Given the description of an element on the screen output the (x, y) to click on. 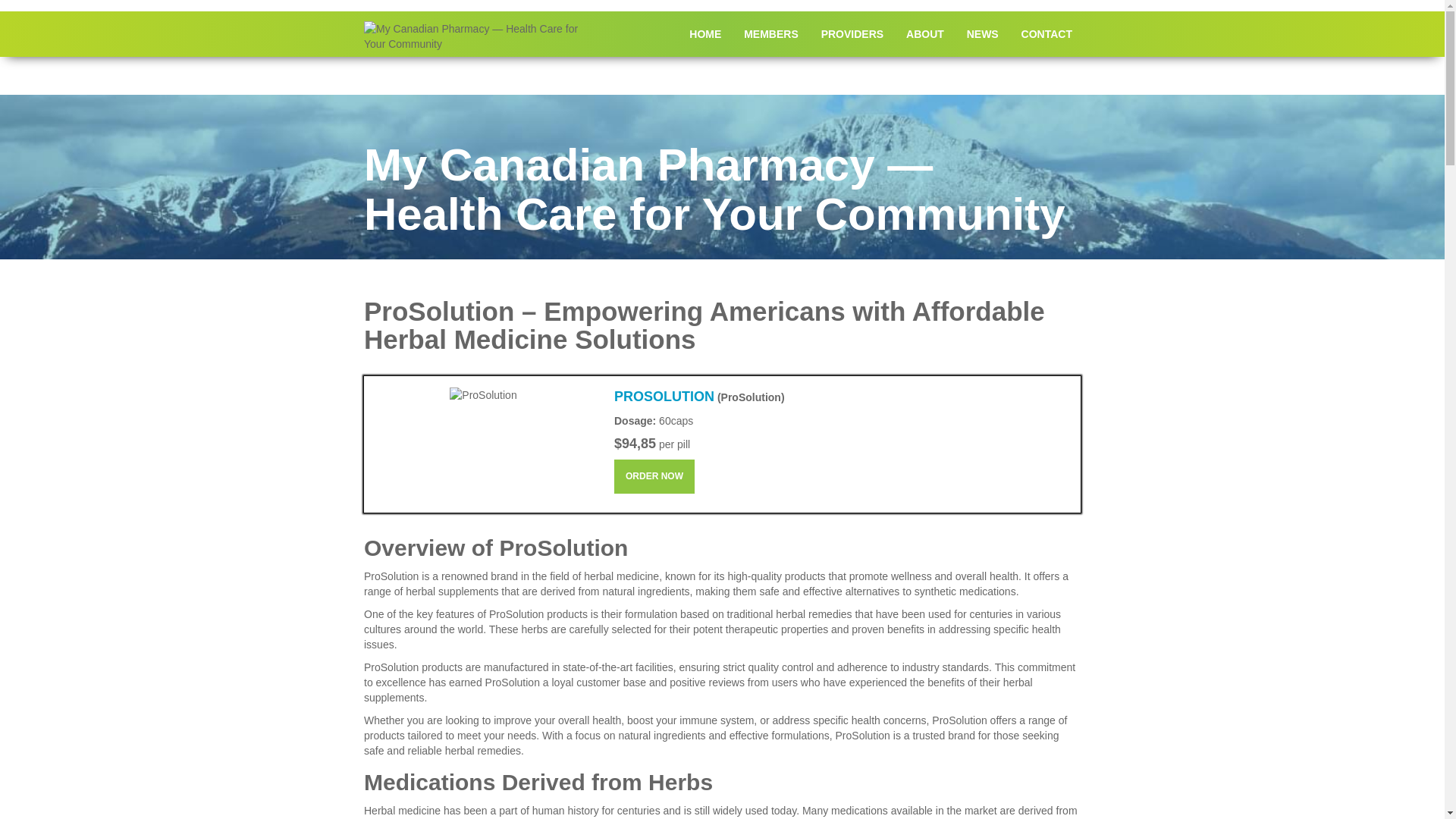
NEWS (982, 33)
ORDER NOW (654, 476)
MEMBERS (770, 33)
PROVIDERS (852, 33)
HOME (705, 33)
ABOUT (925, 33)
CONTACT (1046, 33)
